Given the description of an element on the screen output the (x, y) to click on. 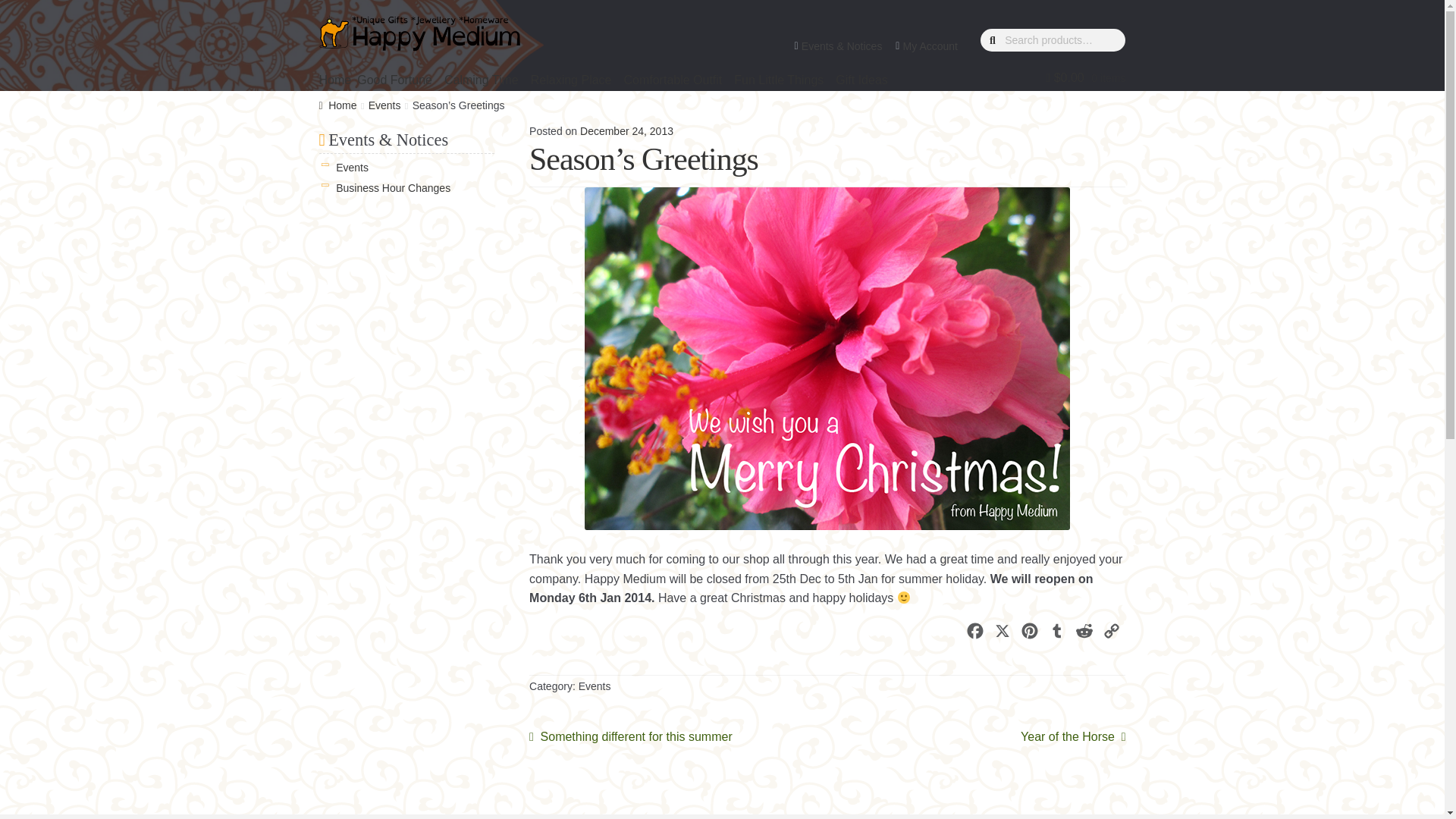
Pinterest (1029, 633)
Good Fortune (400, 80)
Facebook (974, 633)
My Account (933, 45)
Home (338, 80)
X (1002, 633)
Copy Link (1111, 633)
View your shopping cart (1053, 70)
Tumblr (1056, 633)
Reddit (1083, 633)
Calming Time (487, 80)
